Given the description of an element on the screen output the (x, y) to click on. 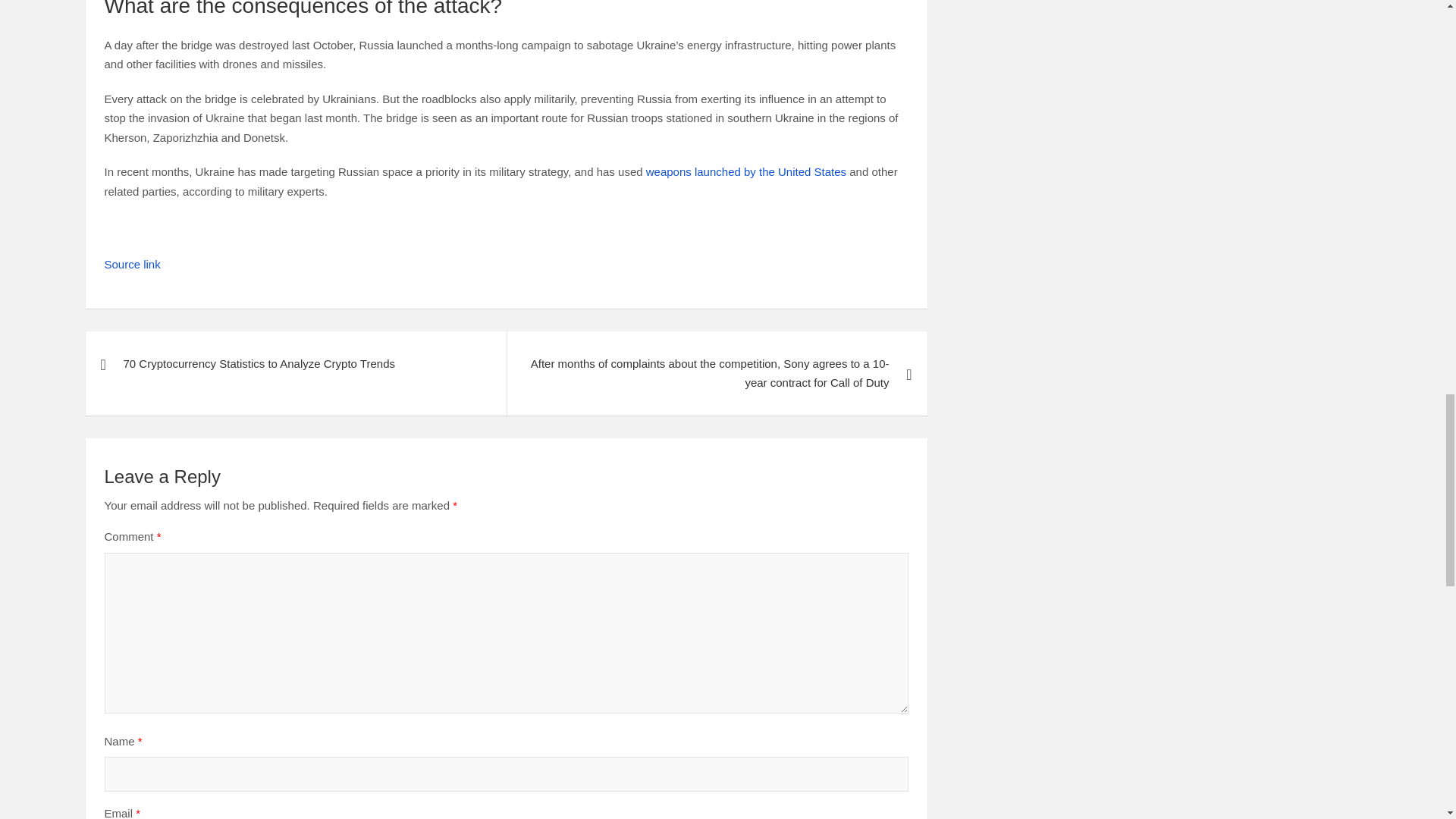
Source link (132, 264)
70 Cryptocurrency Statistics to Analyze Crypto Trends (294, 363)
weapons launched by the United States (745, 171)
